Given the description of an element on the screen output the (x, y) to click on. 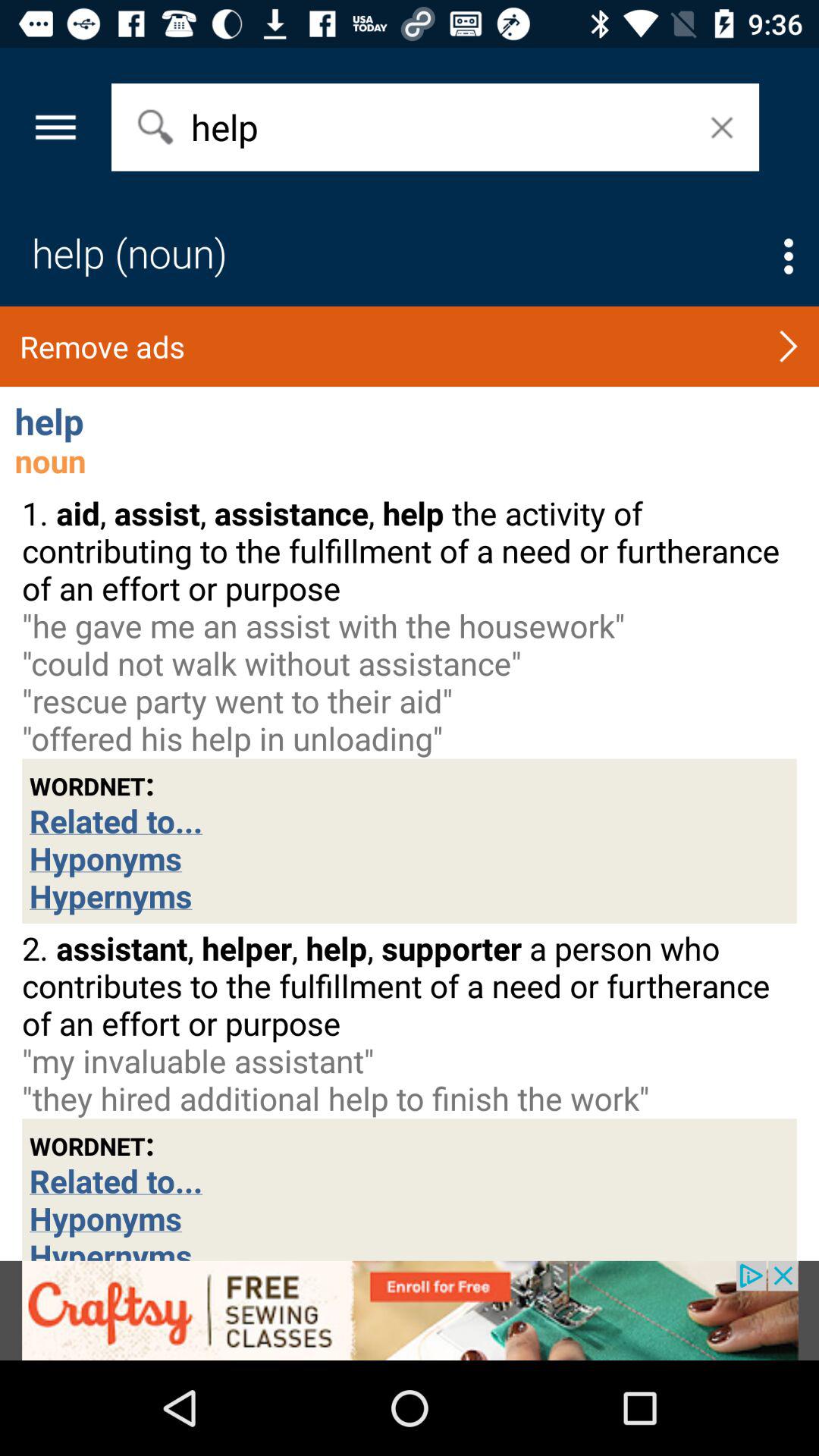
options select (788, 256)
